Given the description of an element on the screen output the (x, y) to click on. 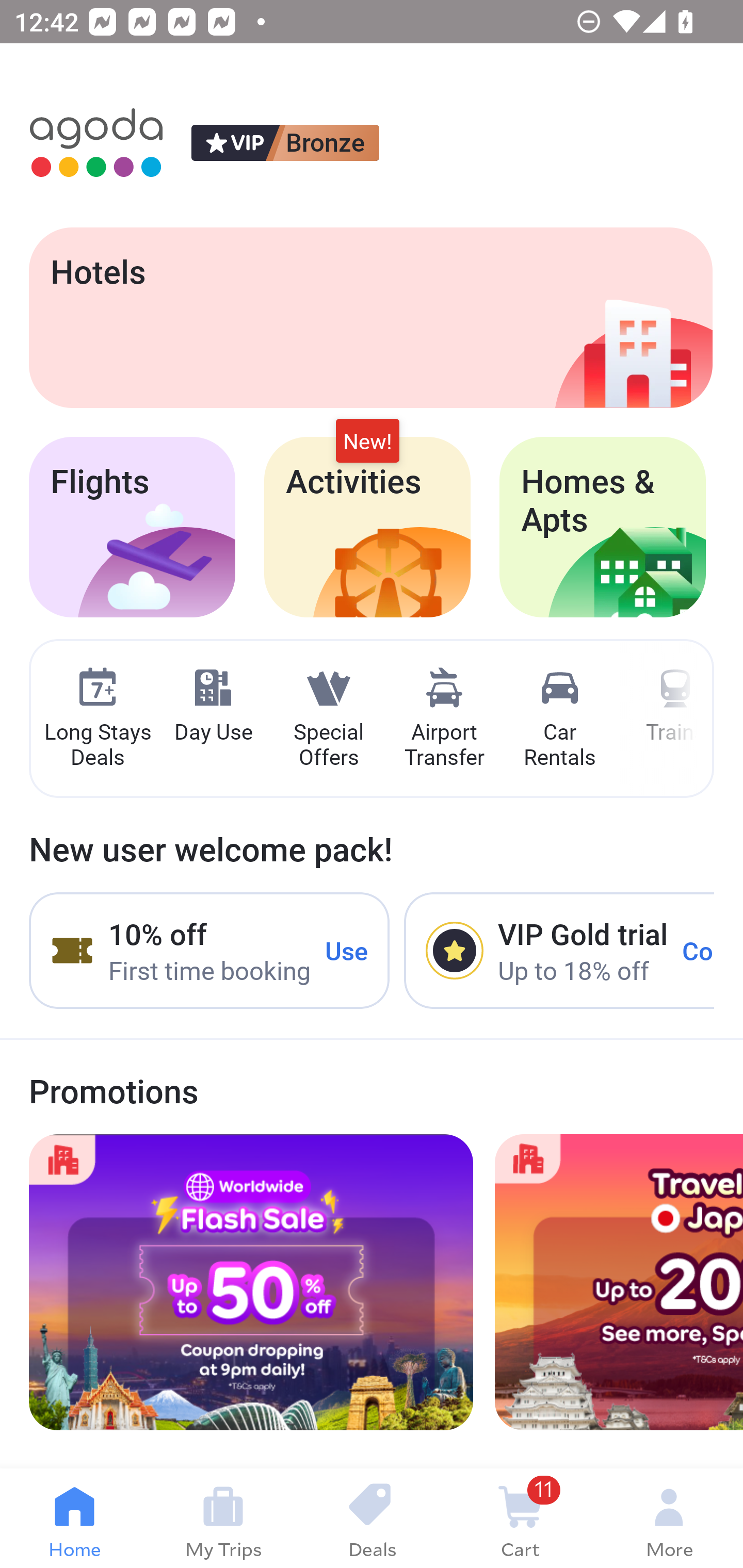
Hotels (370, 317)
New! (367, 441)
Flights (131, 527)
Activities (367, 527)
Homes & Apts (602, 527)
Day Use (213, 706)
Long Stays Deals (97, 718)
Special Offers (328, 718)
Airport Transfer (444, 718)
Car Rentals (559, 718)
Use (346, 950)
Home (74, 1518)
My Trips (222, 1518)
Deals (371, 1518)
11 Cart (519, 1518)
More (668, 1518)
